Given the description of an element on the screen output the (x, y) to click on. 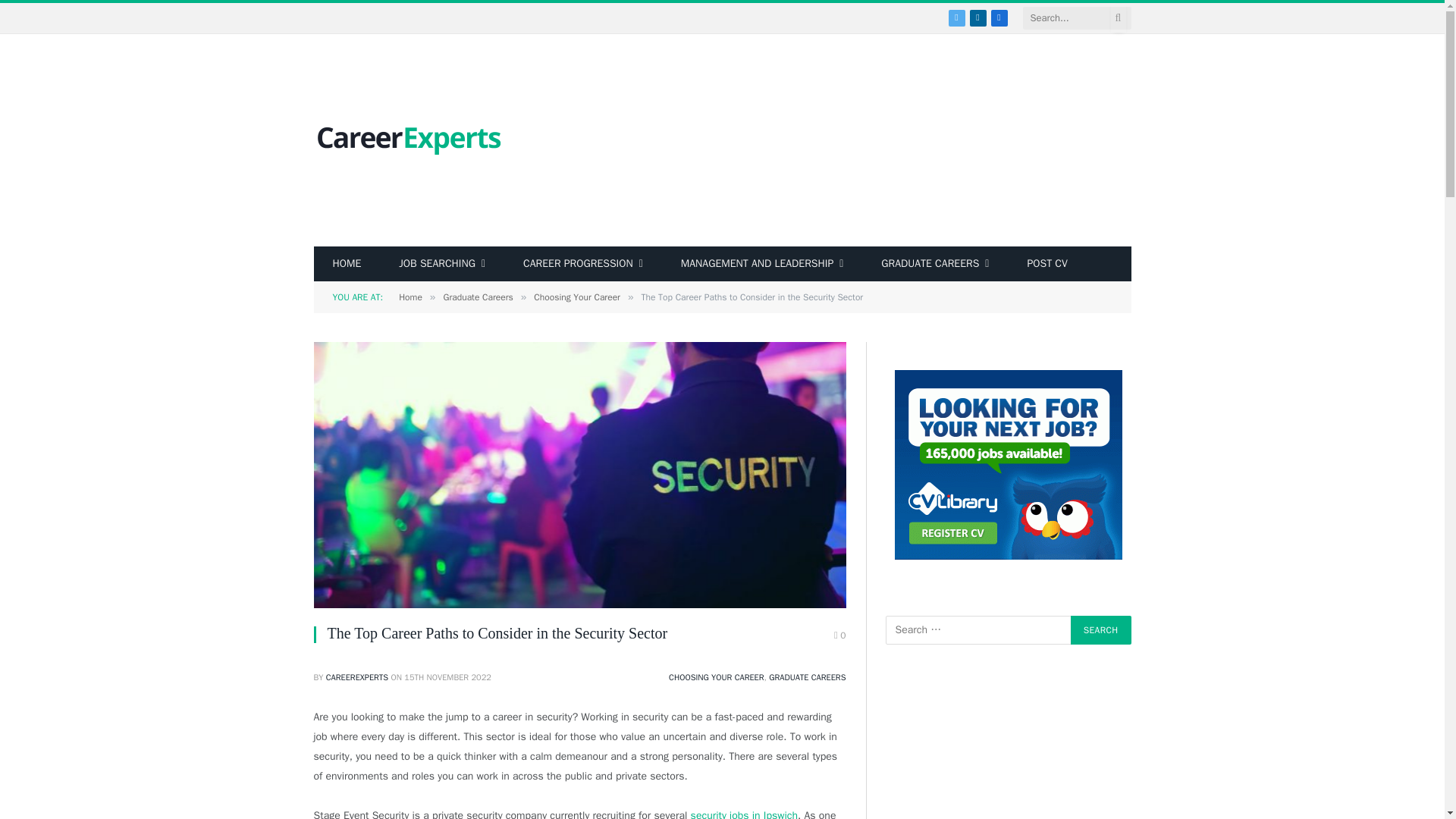
Home (347, 263)
Advertisement (854, 140)
Search (1100, 629)
Twitter (955, 17)
MANAGEMENT AND LEADERSHIP (762, 263)
CAREER PROGRESSION (582, 263)
JOB SEARCHING (441, 263)
Search (1100, 629)
Facebook (998, 17)
HOME (347, 263)
Career Experts (408, 140)
LinkedIn (977, 17)
